Given the description of an element on the screen output the (x, y) to click on. 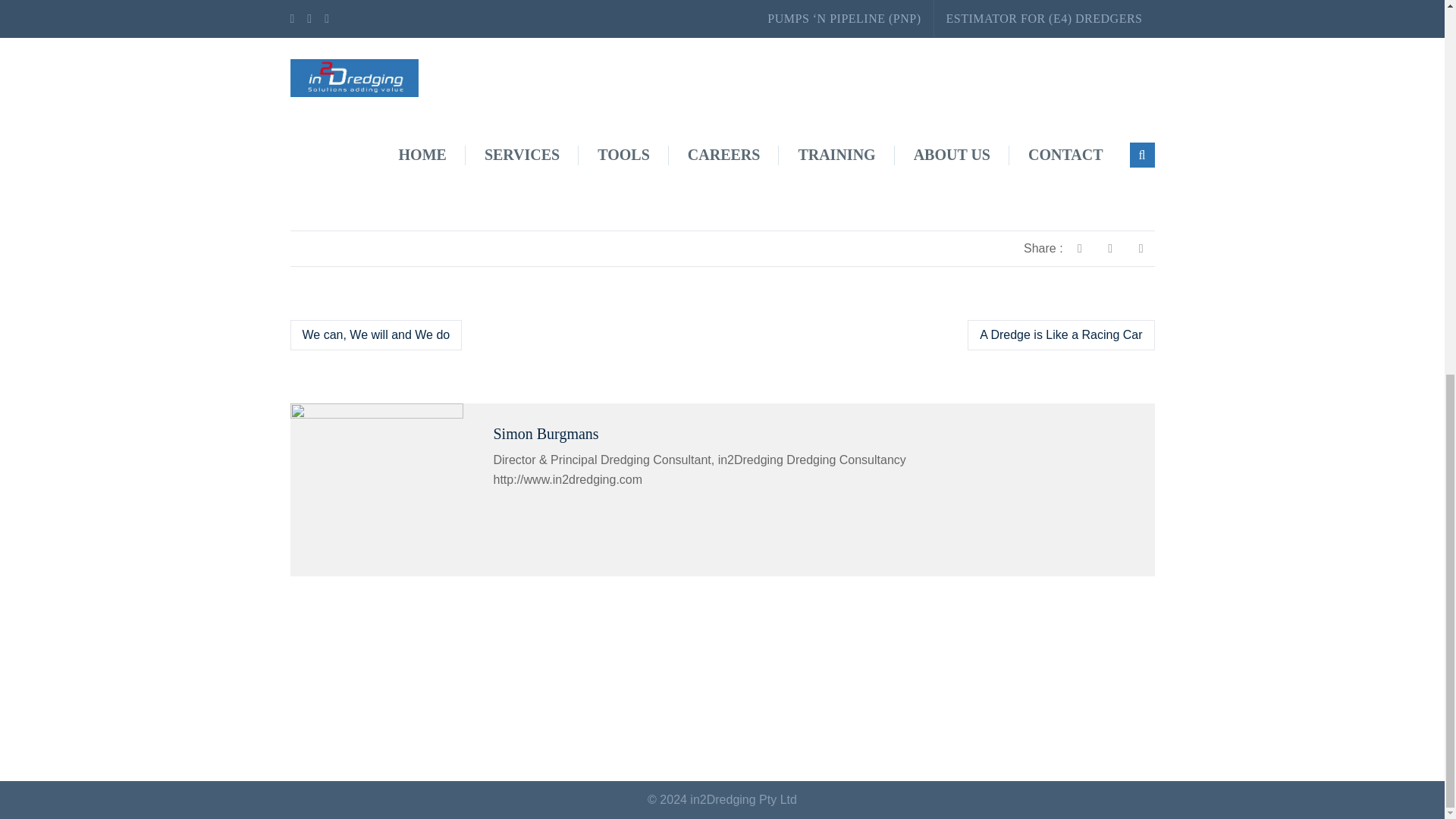
Simon Burgmans (545, 433)
We can, We will and We do (375, 335)
Posts by Simon Burgmans (545, 433)
A Dredge is Like a Racing Car (1061, 335)
Read More (320, 182)
